Given the description of an element on the screen output the (x, y) to click on. 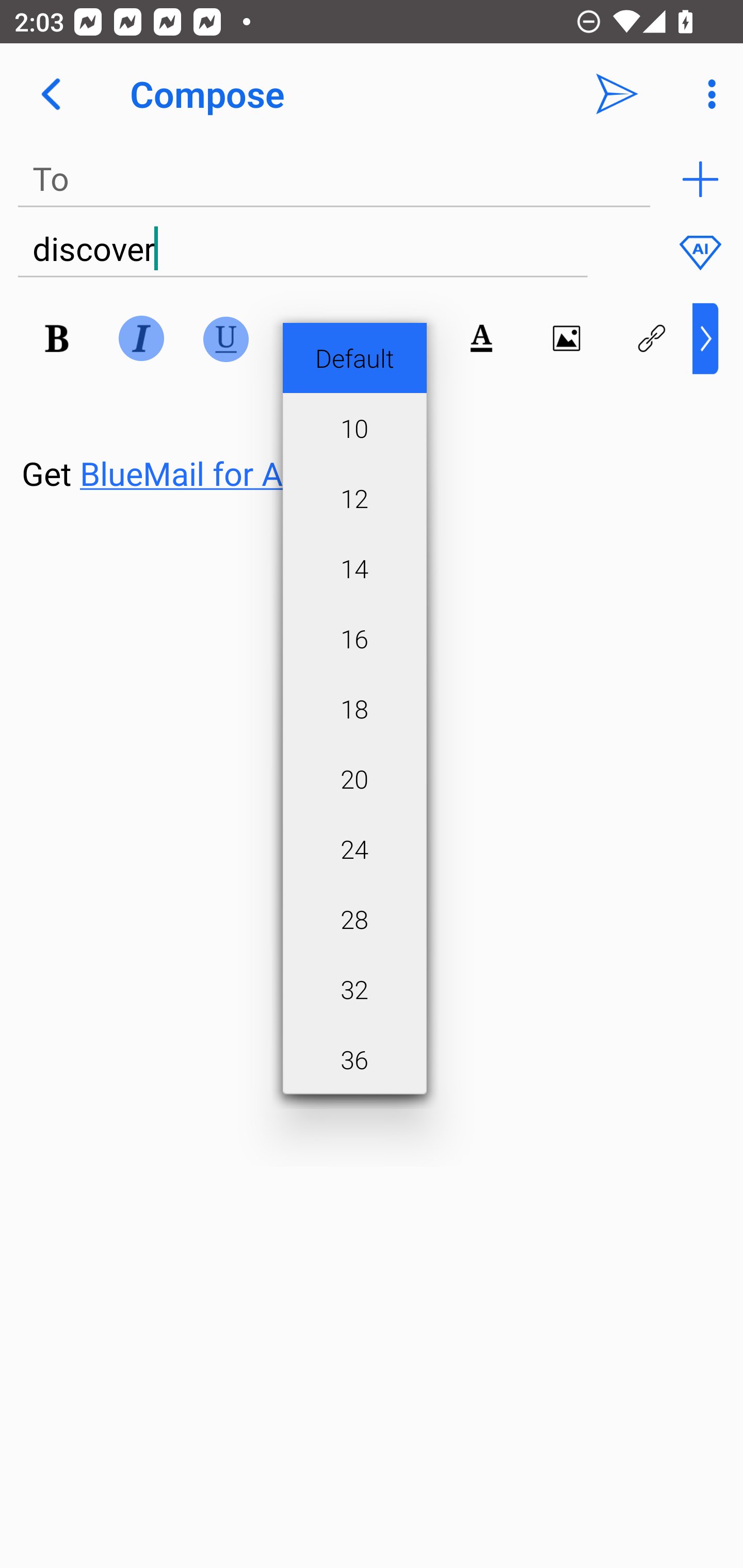
Default (354, 358)
10 (354, 427)
12 (354, 497)
14 (354, 568)
16 (354, 638)
18 (354, 708)
20 (354, 778)
24 (354, 848)
28 (354, 919)
32 (354, 988)
36 (354, 1058)
